Given the description of an element on the screen output the (x, y) to click on. 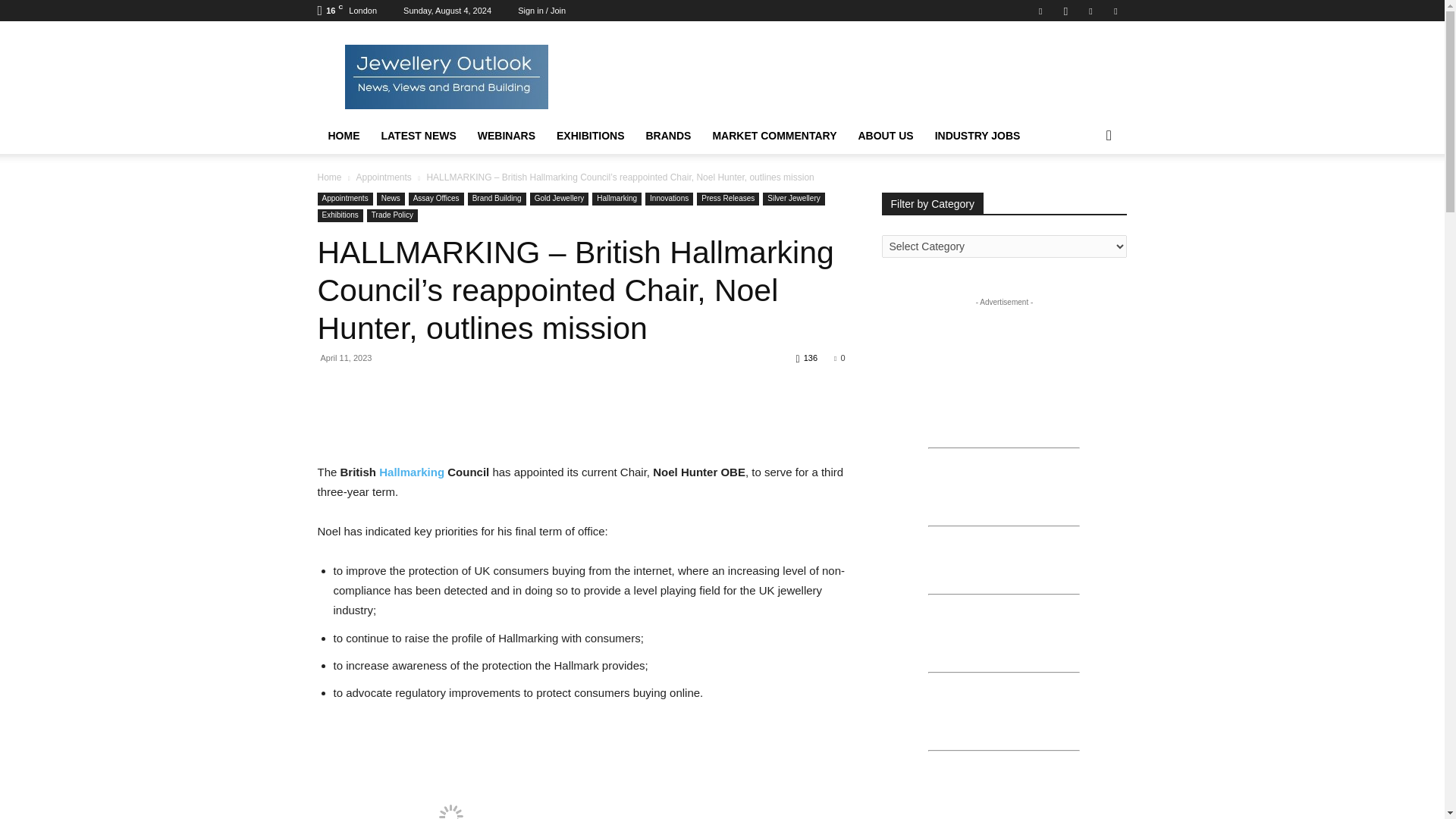
Twitter (1090, 10)
Jewellery Outlook (445, 76)
Instagram (1065, 10)
Youtube (1114, 10)
Facebook (1040, 10)
